Given the description of an element on the screen output the (x, y) to click on. 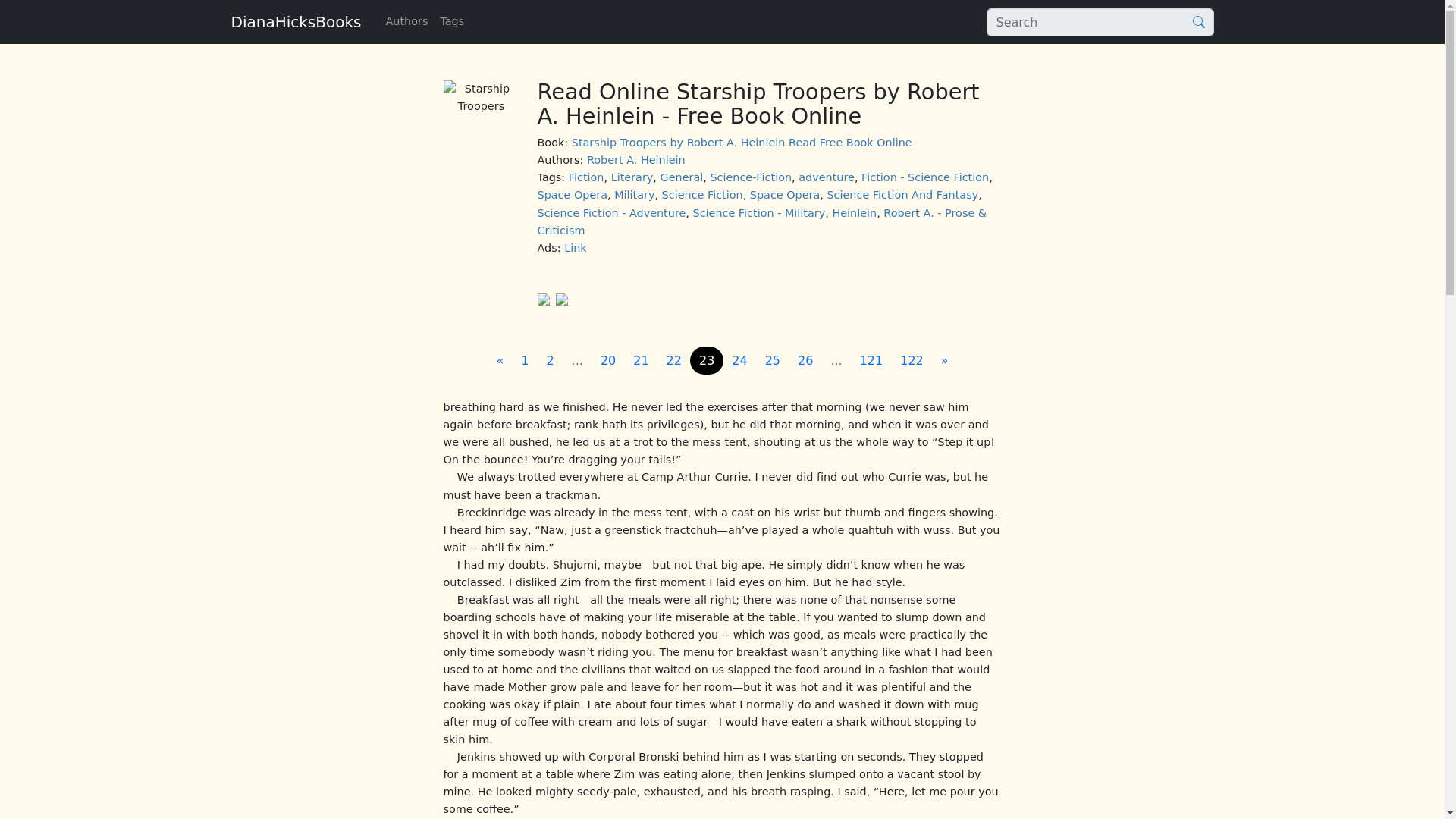
25 (772, 360)
Military (633, 194)
Science Fiction And Fantasy (902, 194)
Robert A. Heinlein (635, 159)
Literary (632, 177)
Authors (405, 21)
DianaHicksBooks (295, 21)
20 (607, 360)
Tags (451, 21)
24 (738, 360)
